Given the description of an element on the screen output the (x, y) to click on. 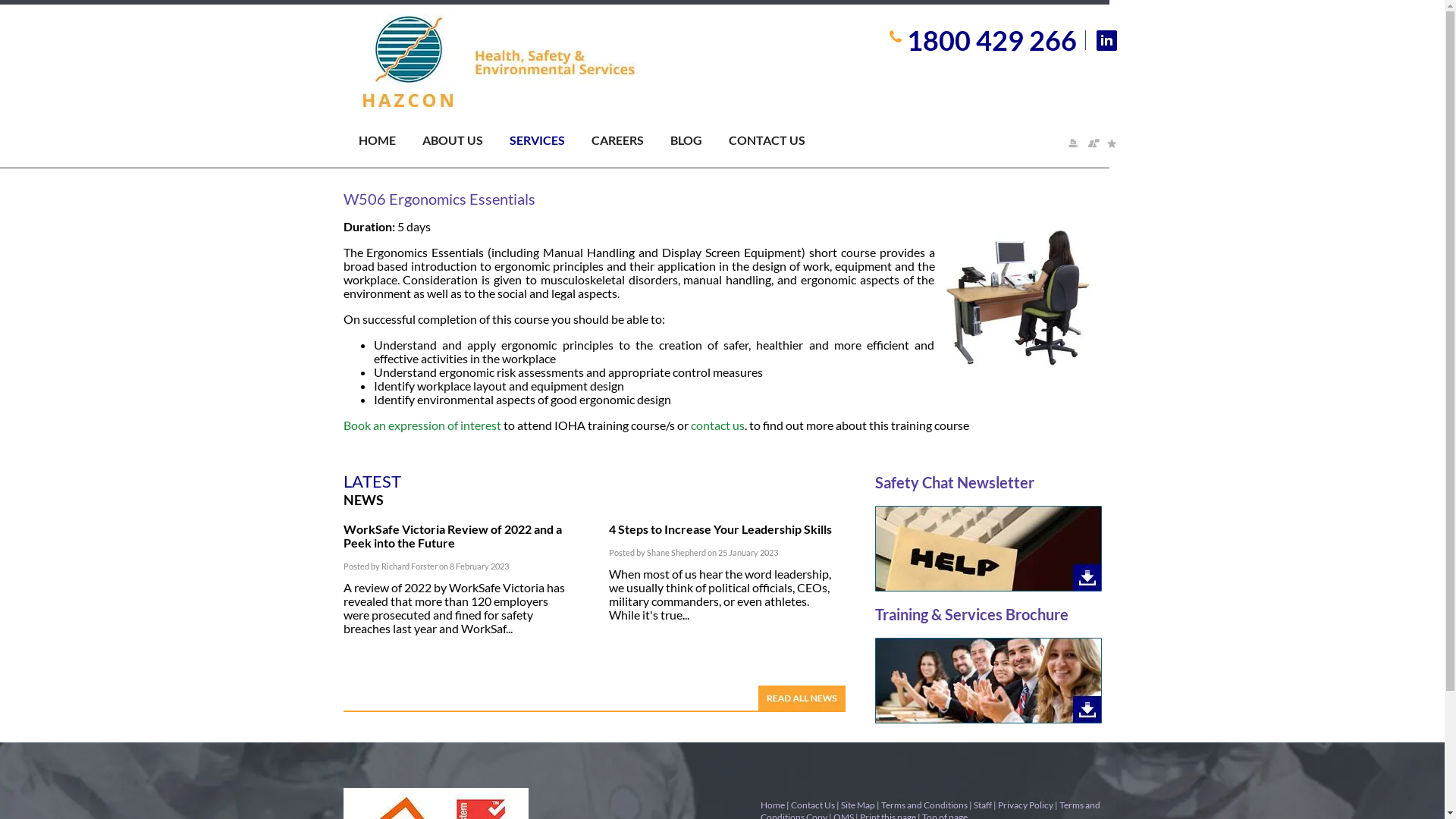
CONTACT US Element type: text (779, 143)
linkedin Element type: text (1106, 40)
4 Steps to Increase Your Leadership Skills Element type: text (719, 528)
Contact Us Element type: text (812, 804)
Terms and Conditions Element type: text (924, 804)
BLOG Element type: text (699, 143)
Home Element type: text (771, 804)
CAREERS Element type: text (630, 143)
Site Map Element type: text (857, 804)
contact us Element type: text (716, 424)
SERVICES Element type: text (550, 143)
WorkSafe Victoria Review of 2022 and a Peek into the Future Element type: text (451, 535)
Book an expression of interest Element type: text (421, 424)
ABOUT US Element type: text (464, 143)
Staff Element type: text (982, 804)
HOME Element type: text (389, 143)
Privacy Policy Element type: text (1025, 804)
